Given the description of an element on the screen output the (x, y) to click on. 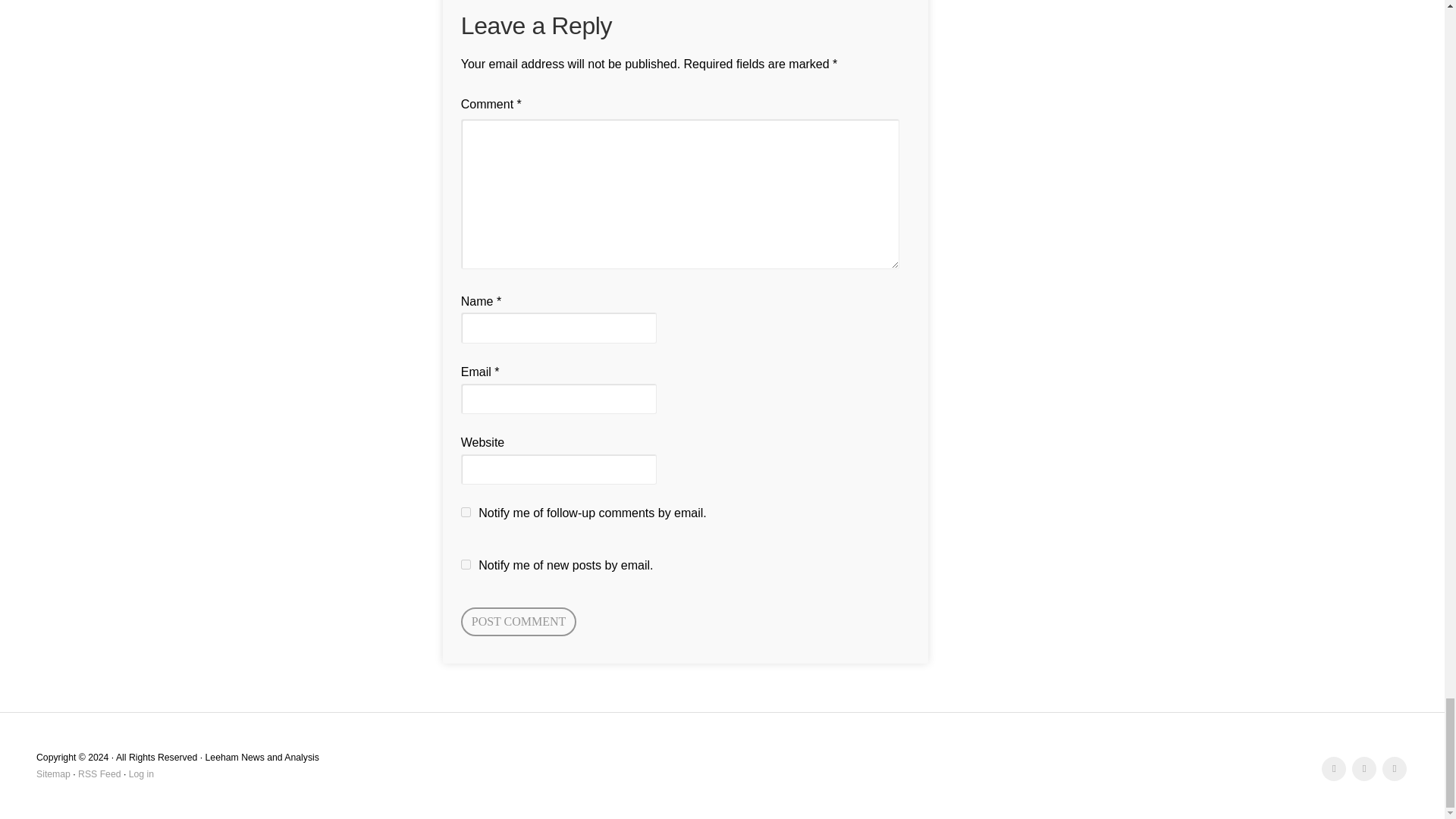
subscribe (465, 511)
Post Comment (518, 621)
subscribe (465, 564)
